Given the description of an element on the screen output the (x, y) to click on. 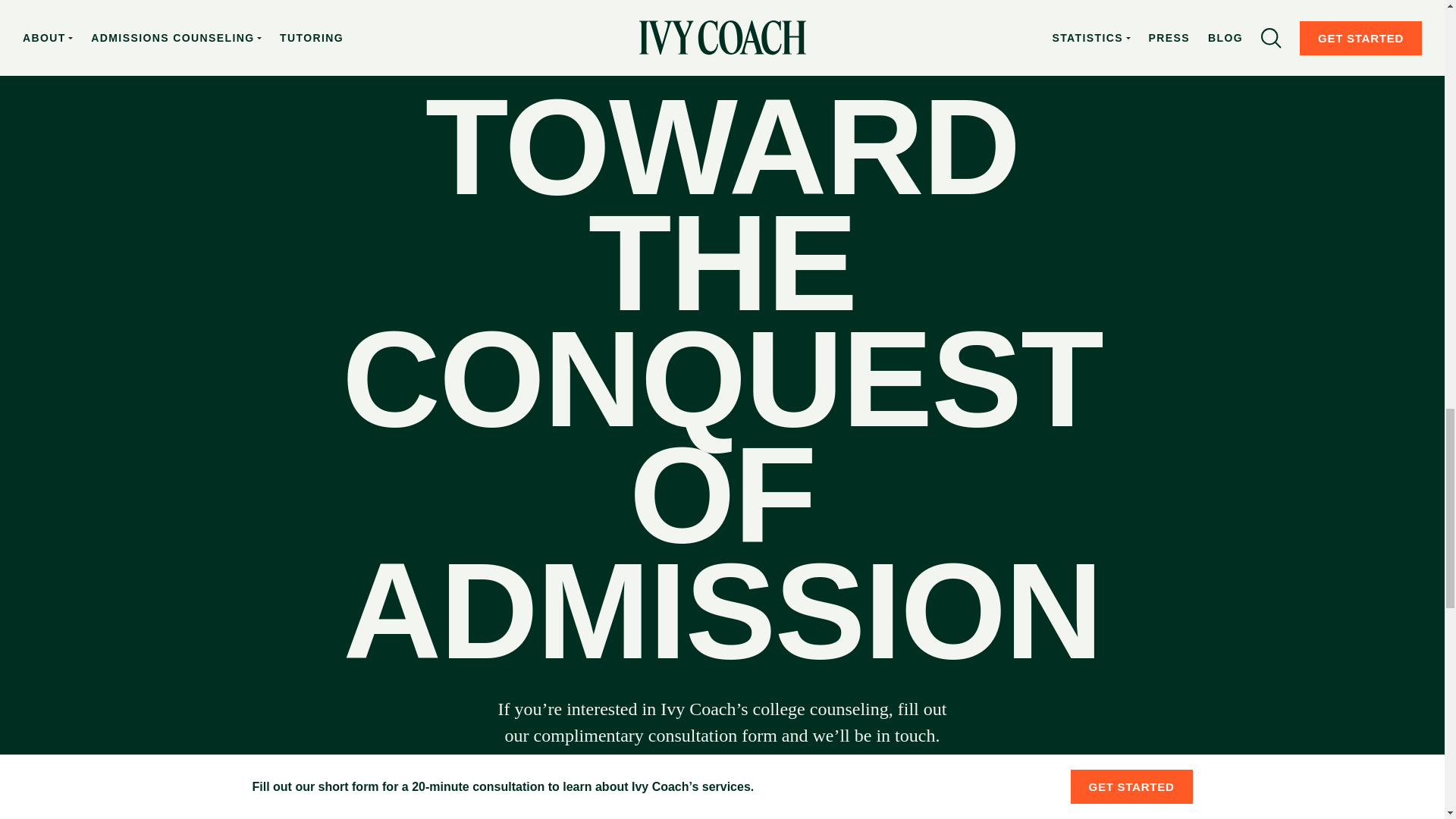
GET STARTED (721, 806)
